Given the description of an element on the screen output the (x, y) to click on. 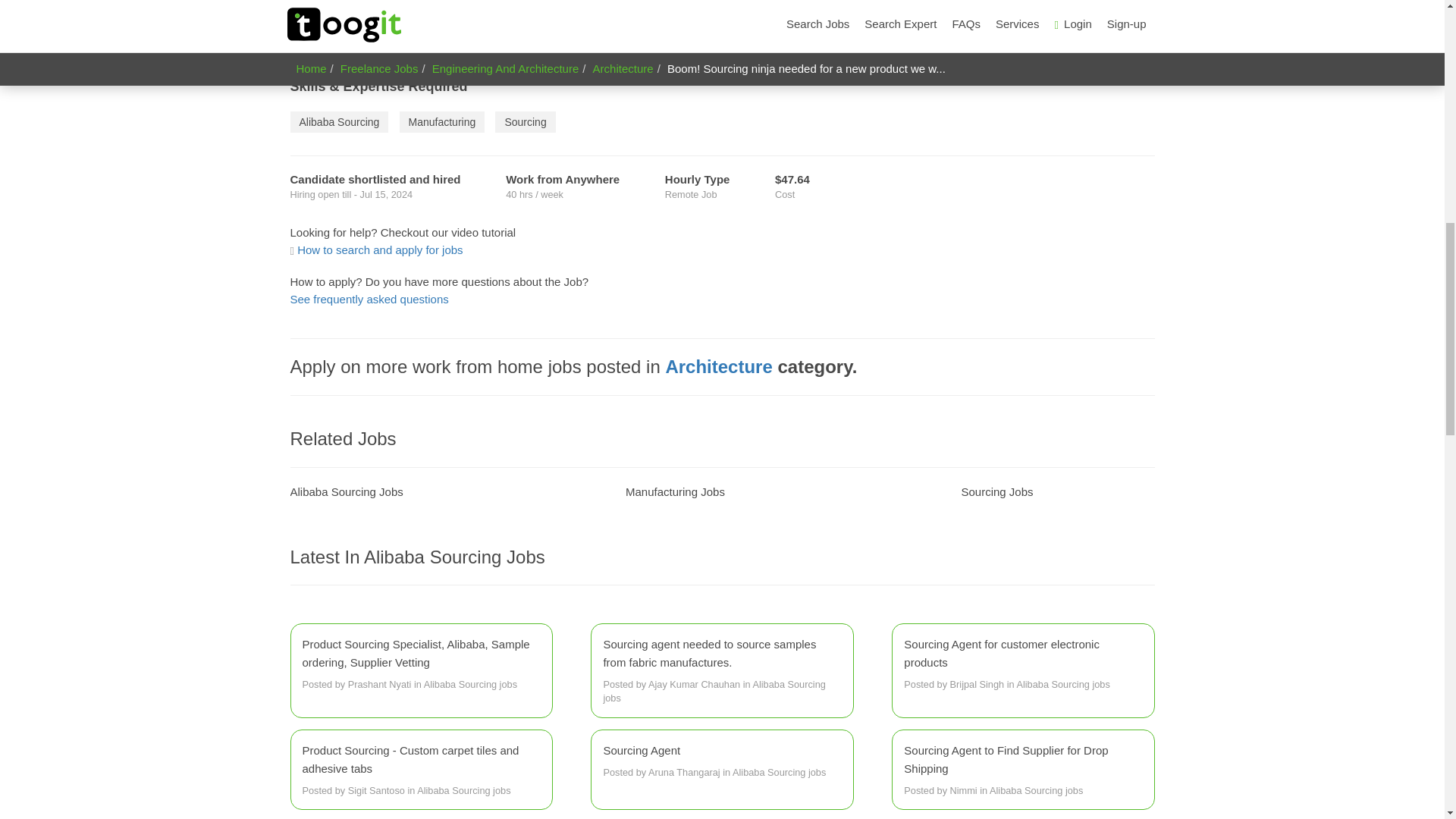
How to search and apply for jobs (376, 249)
Sourcing Jobs (996, 491)
How to search and apply for jobs (376, 249)
Architecture (718, 366)
Search Sourcing Jobs (996, 491)
